Given the description of an element on the screen output the (x, y) to click on. 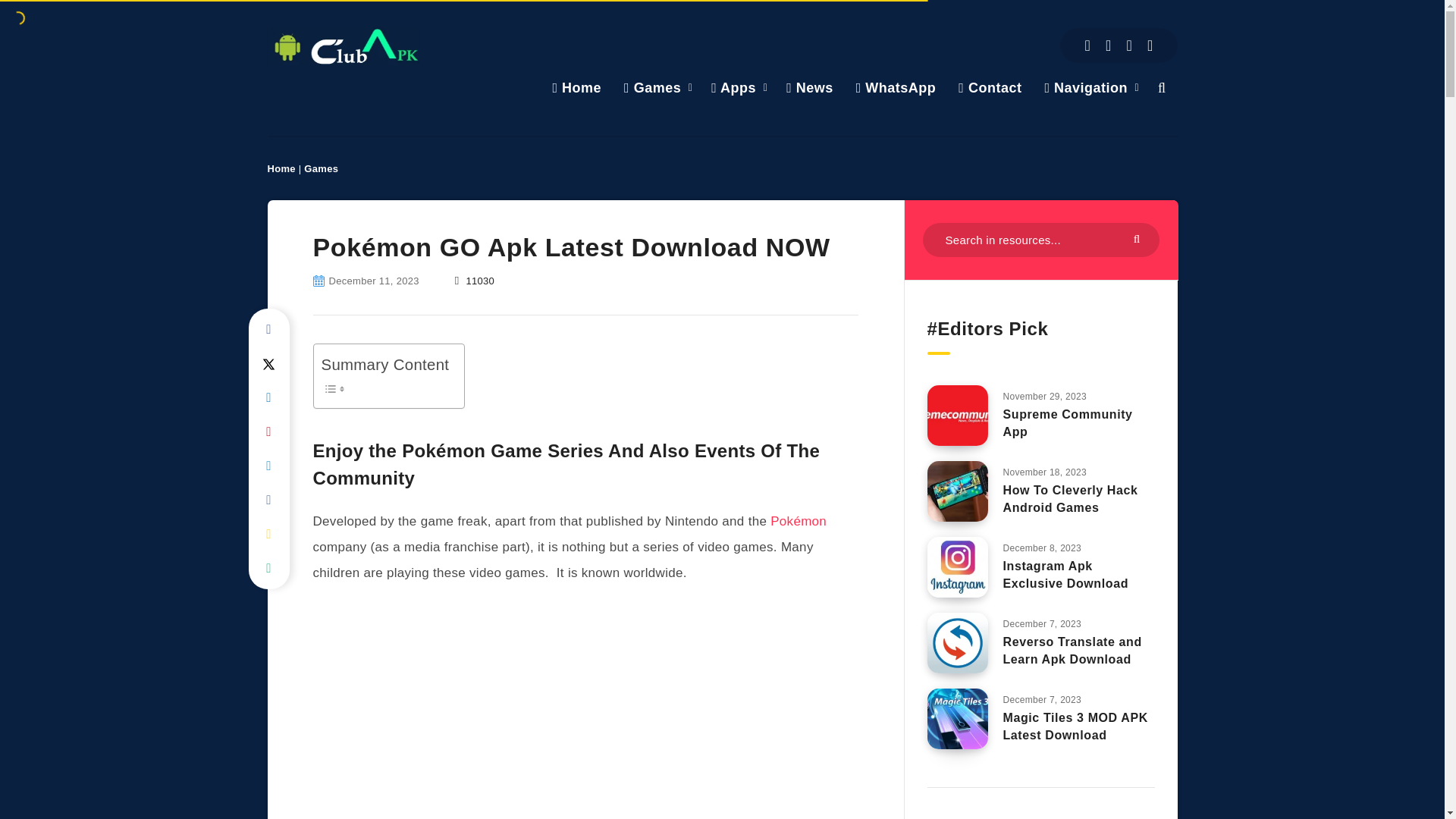
Advertisement (585, 711)
Apps (733, 87)
Games (652, 87)
Home (576, 87)
